Given the description of an element on the screen output the (x, y) to click on. 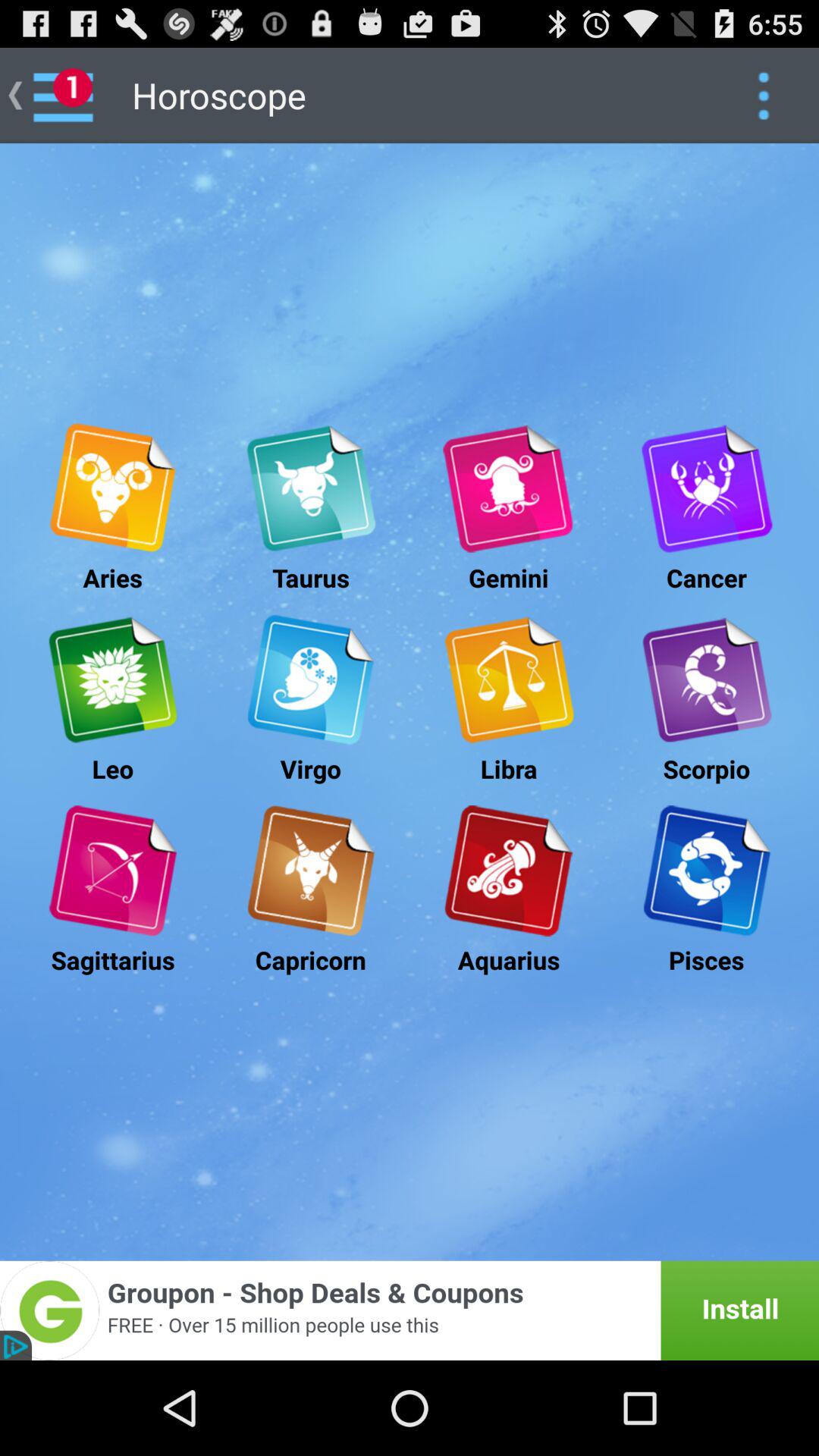
virgo horoscope button (310, 679)
